Given the description of an element on the screen output the (x, y) to click on. 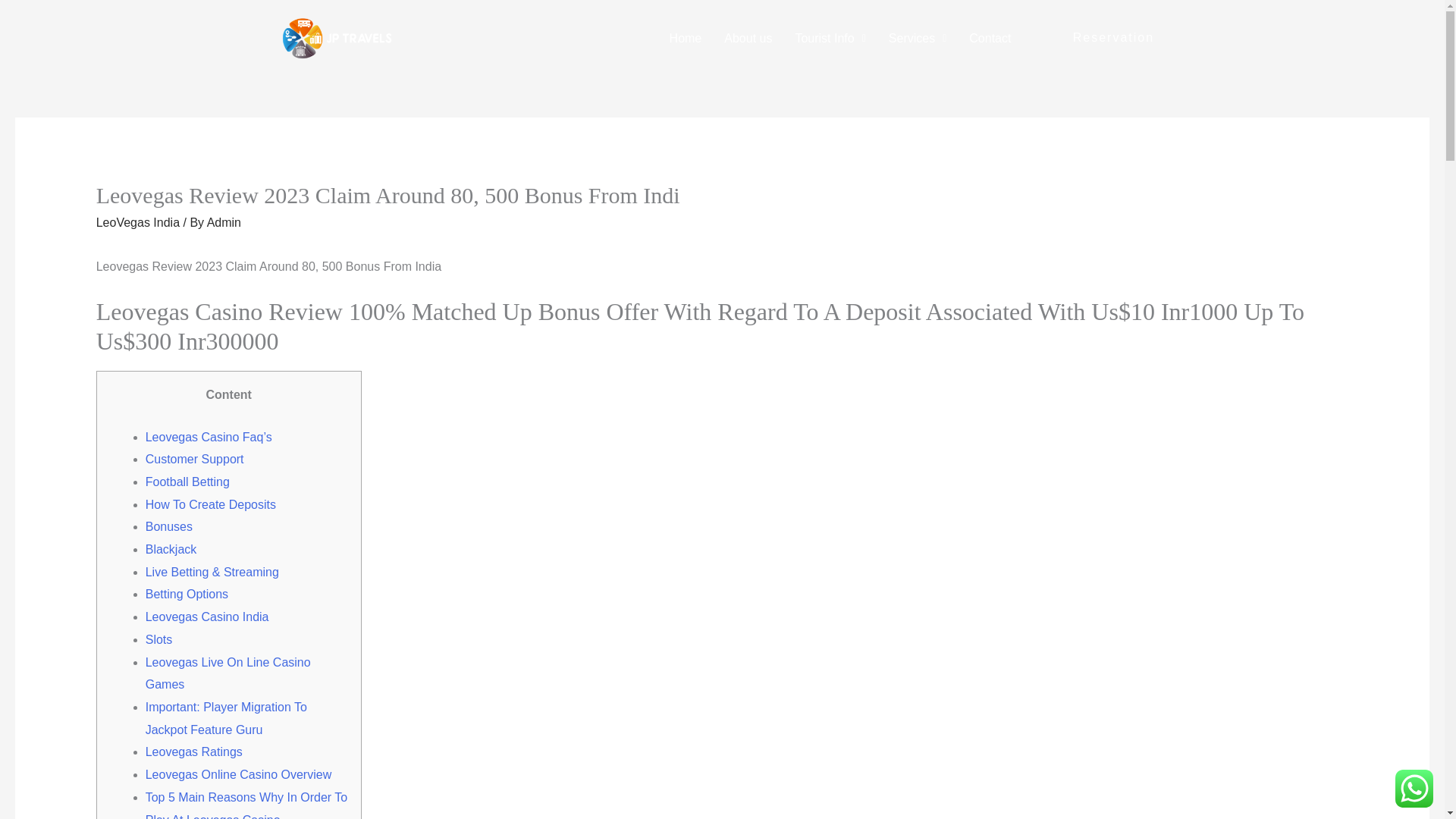
Services (917, 38)
How To Create Deposits (210, 504)
Reservation (1113, 27)
Leovegas Casino India (207, 616)
Football Betting (187, 481)
Tourist Info (829, 38)
Admin (223, 222)
Home (685, 38)
Leovegas Live On Line Casino Games (228, 673)
Betting Options (186, 594)
Bonuses (168, 526)
Customer Support (194, 459)
About us (748, 38)
Leovegas Online Casino Overview (238, 774)
Blackjack (170, 549)
